Given the description of an element on the screen output the (x, y) to click on. 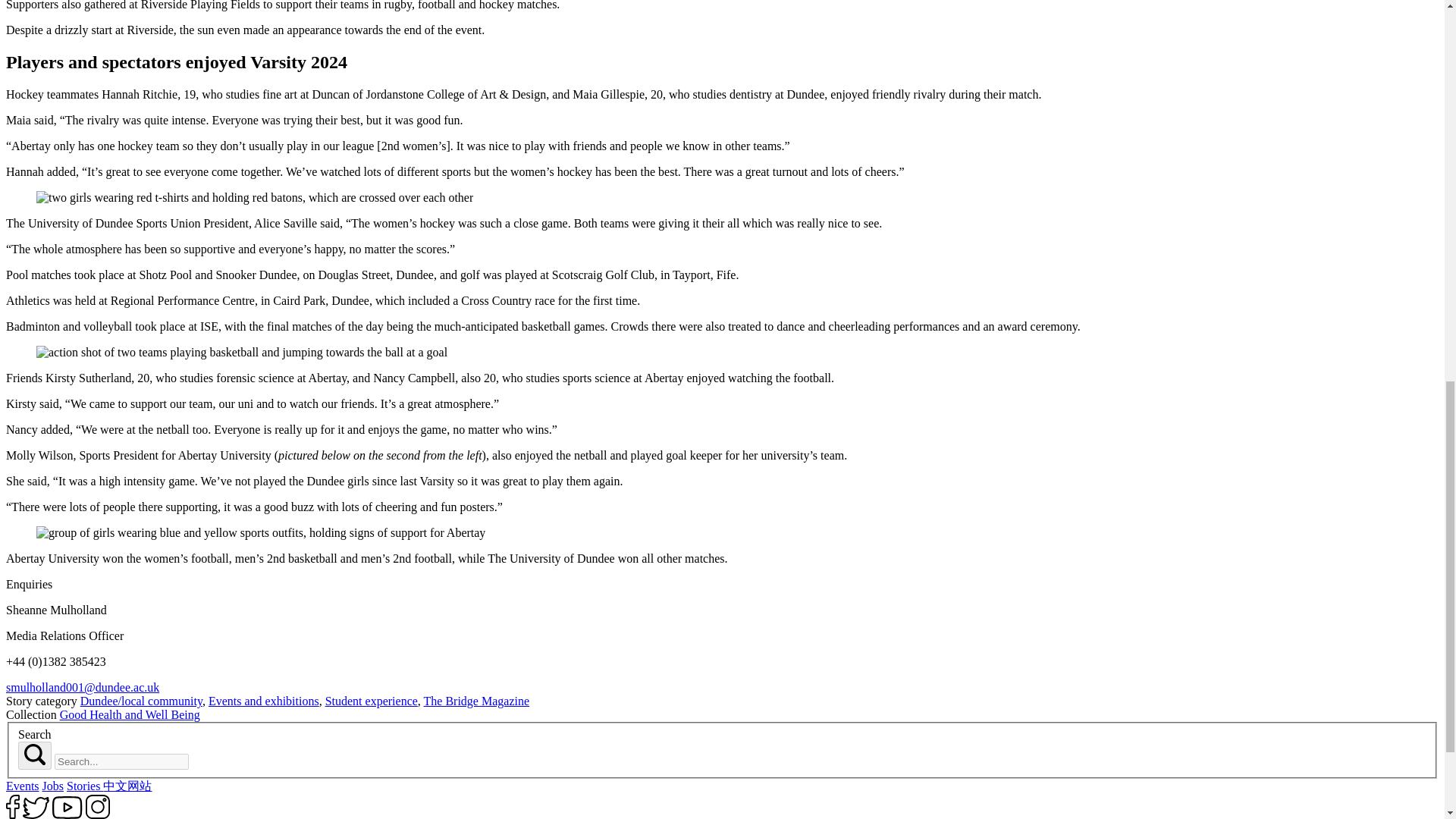
Youtube (67, 807)
Instagram (97, 806)
Find events that are happening at the University of Dundee (22, 785)
Facebook (12, 806)
Twitter (36, 807)
Search (34, 753)
Explore our Chinese language website  (127, 785)
